Given the description of an element on the screen output the (x, y) to click on. 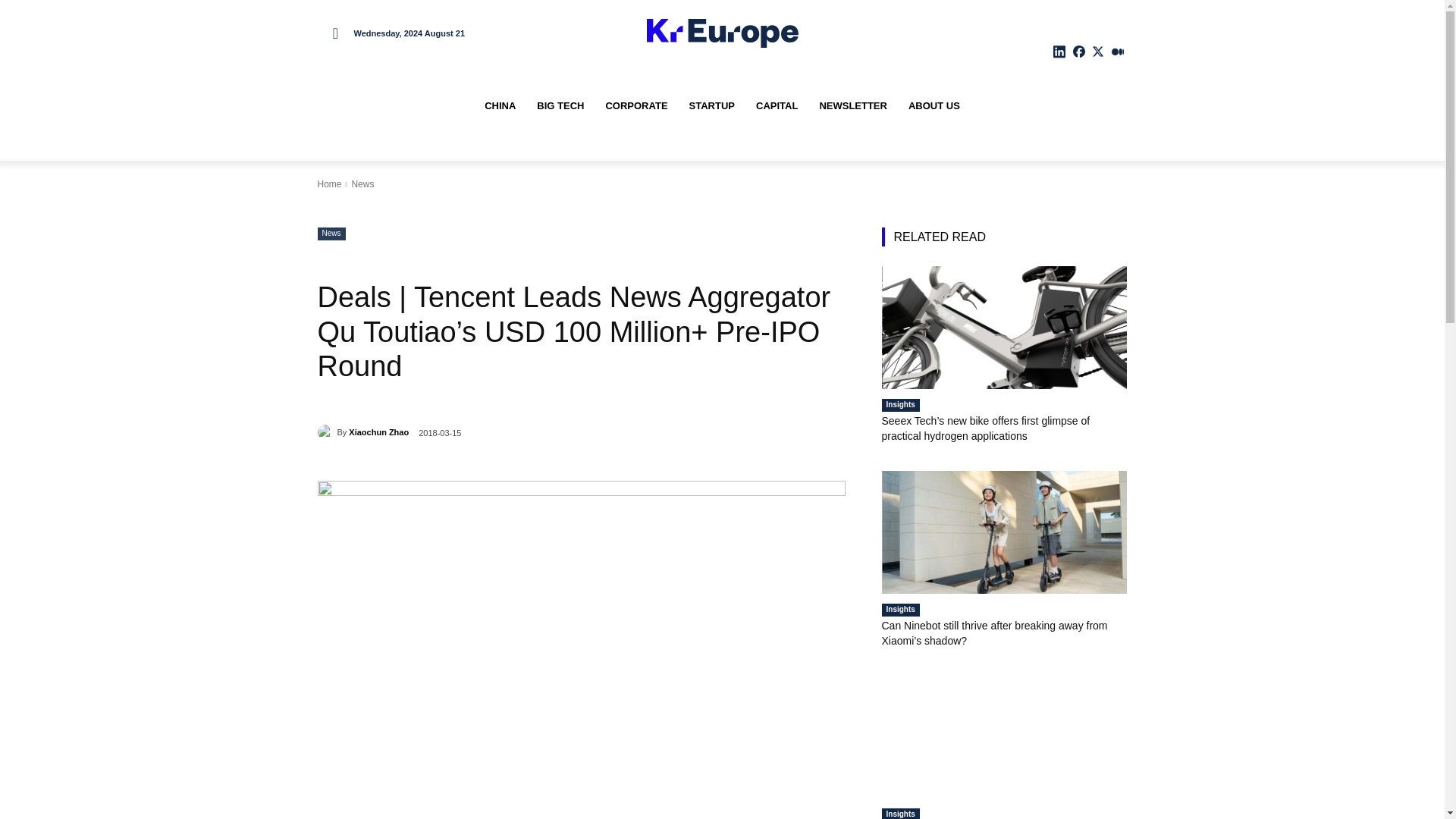
NEWSLETTER (853, 105)
Home (328, 184)
CAPITAL (776, 105)
News (331, 233)
View all posts in News (362, 184)
CHINA (499, 105)
News (362, 184)
CORPORATE (636, 105)
BIG TECH (559, 105)
ABOUT US (934, 105)
